Given the description of an element on the screen output the (x, y) to click on. 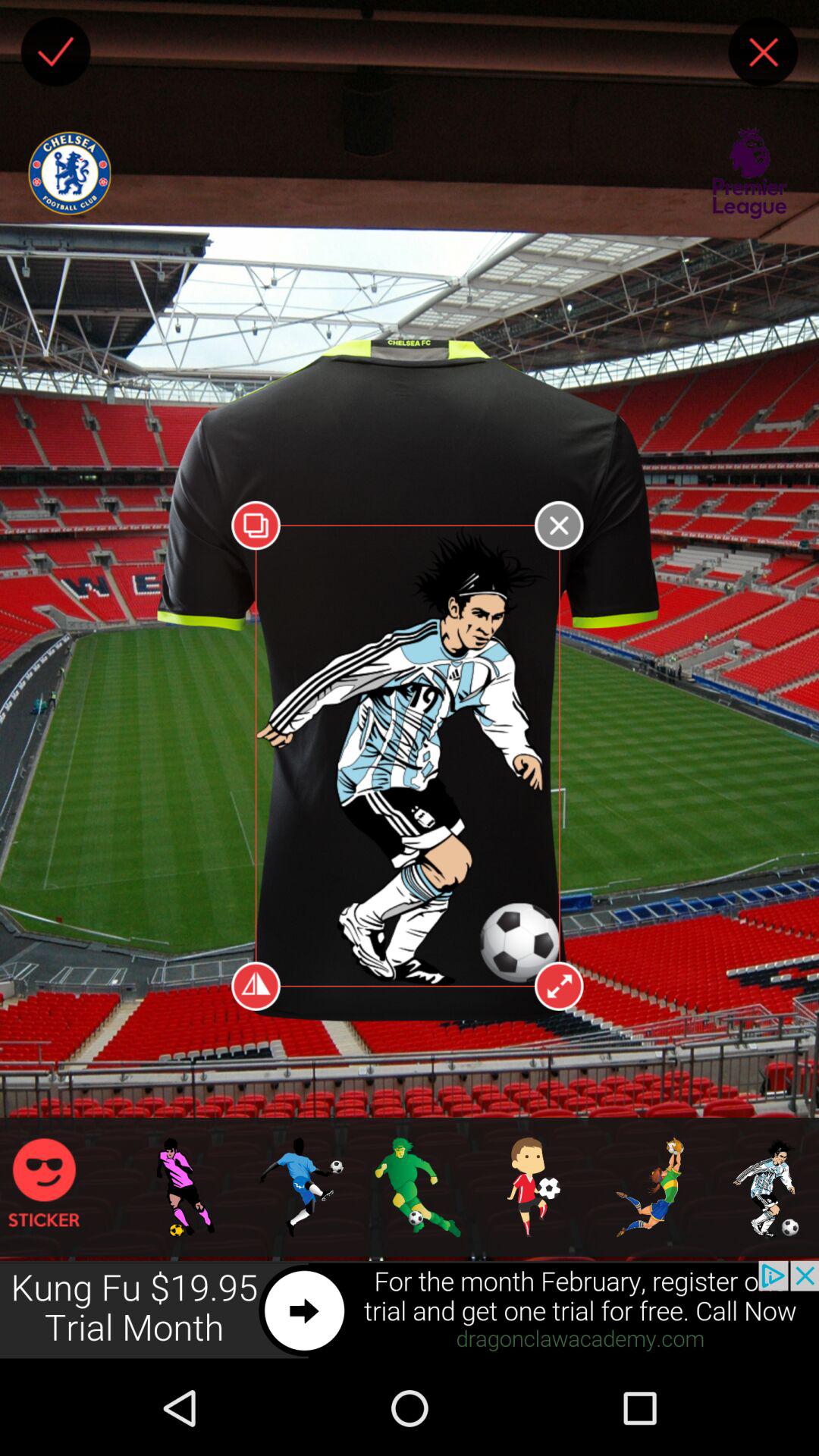
go to cancel button (763, 51)
